Given the description of an element on the screen output the (x, y) to click on. 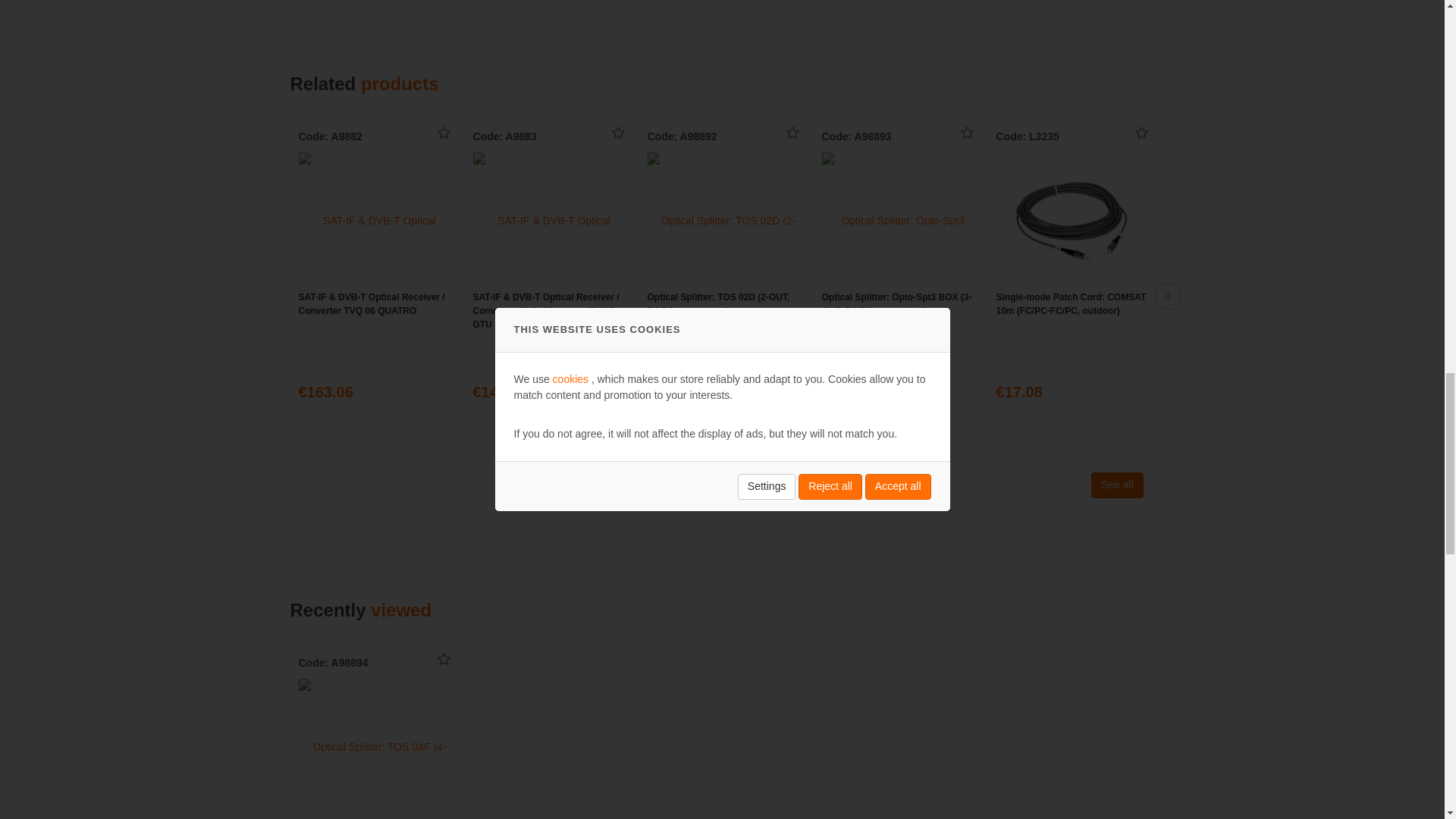
Add to your Favorites (443, 134)
Add to your Favorites (618, 134)
Add to your Favorites (793, 134)
